Given the description of an element on the screen output the (x, y) to click on. 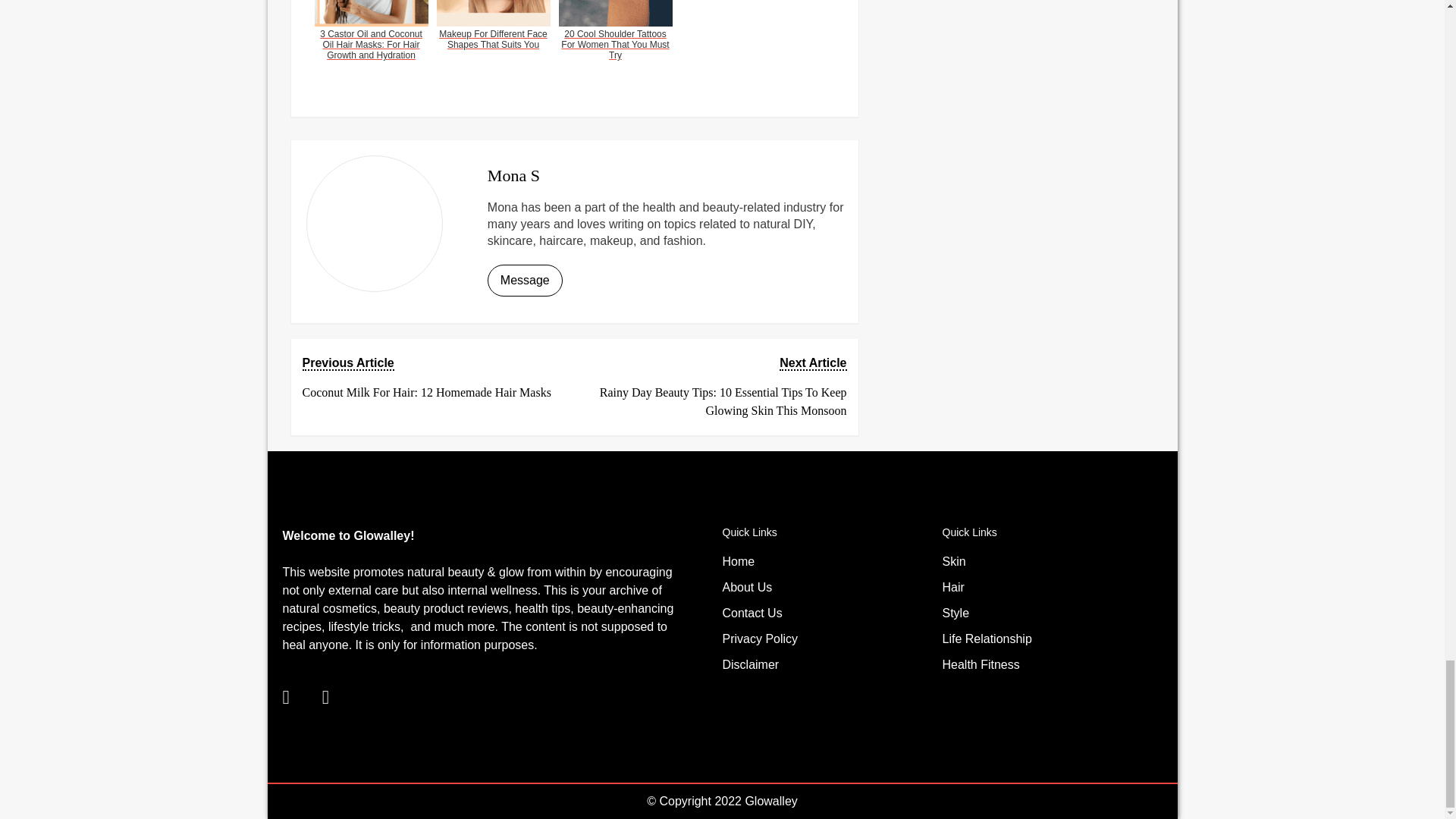
Posts by Mona S (513, 175)
